Given the description of an element on the screen output the (x, y) to click on. 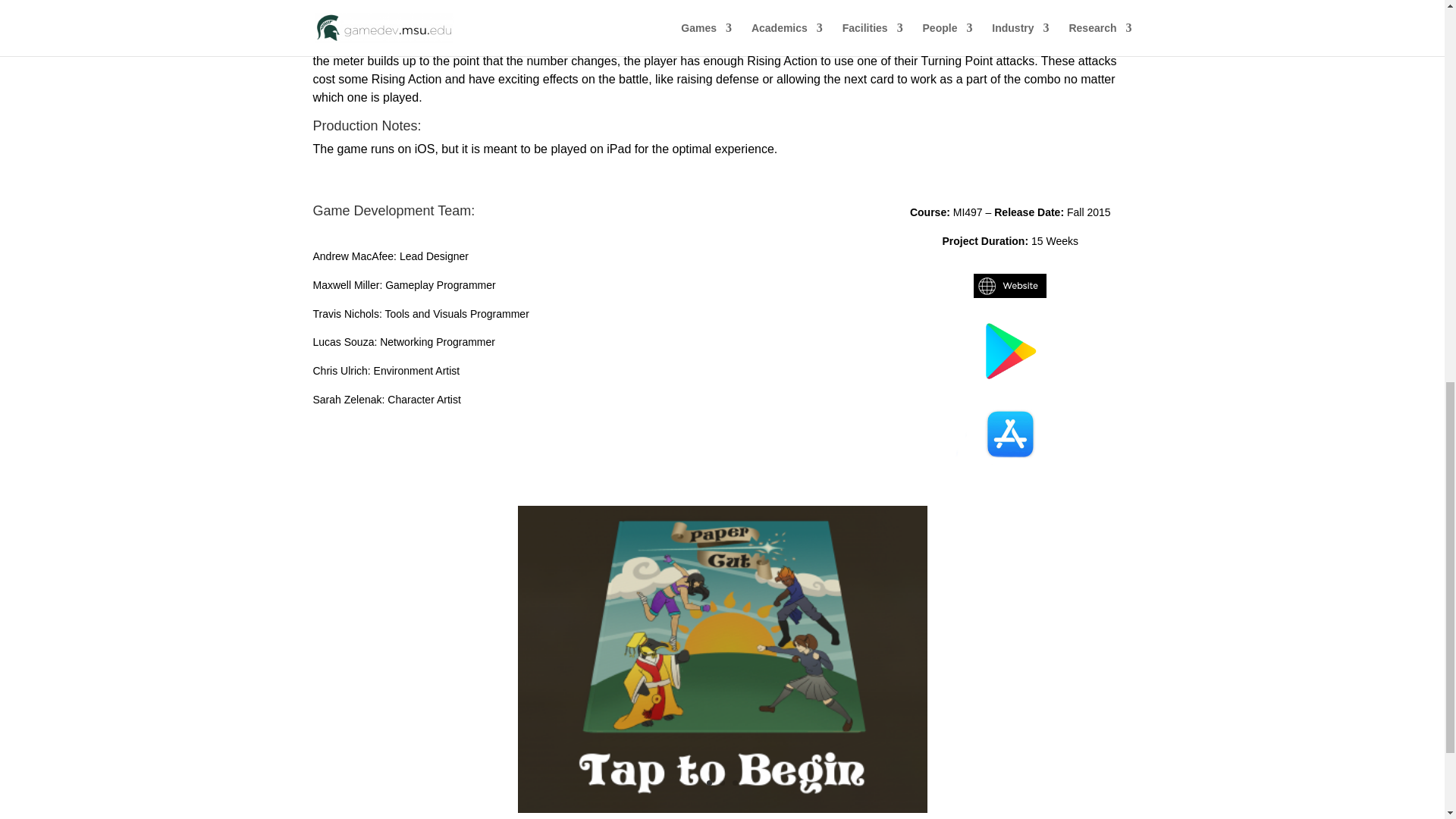
Papercut21 (721, 812)
